Given the description of an element on the screen output the (x, y) to click on. 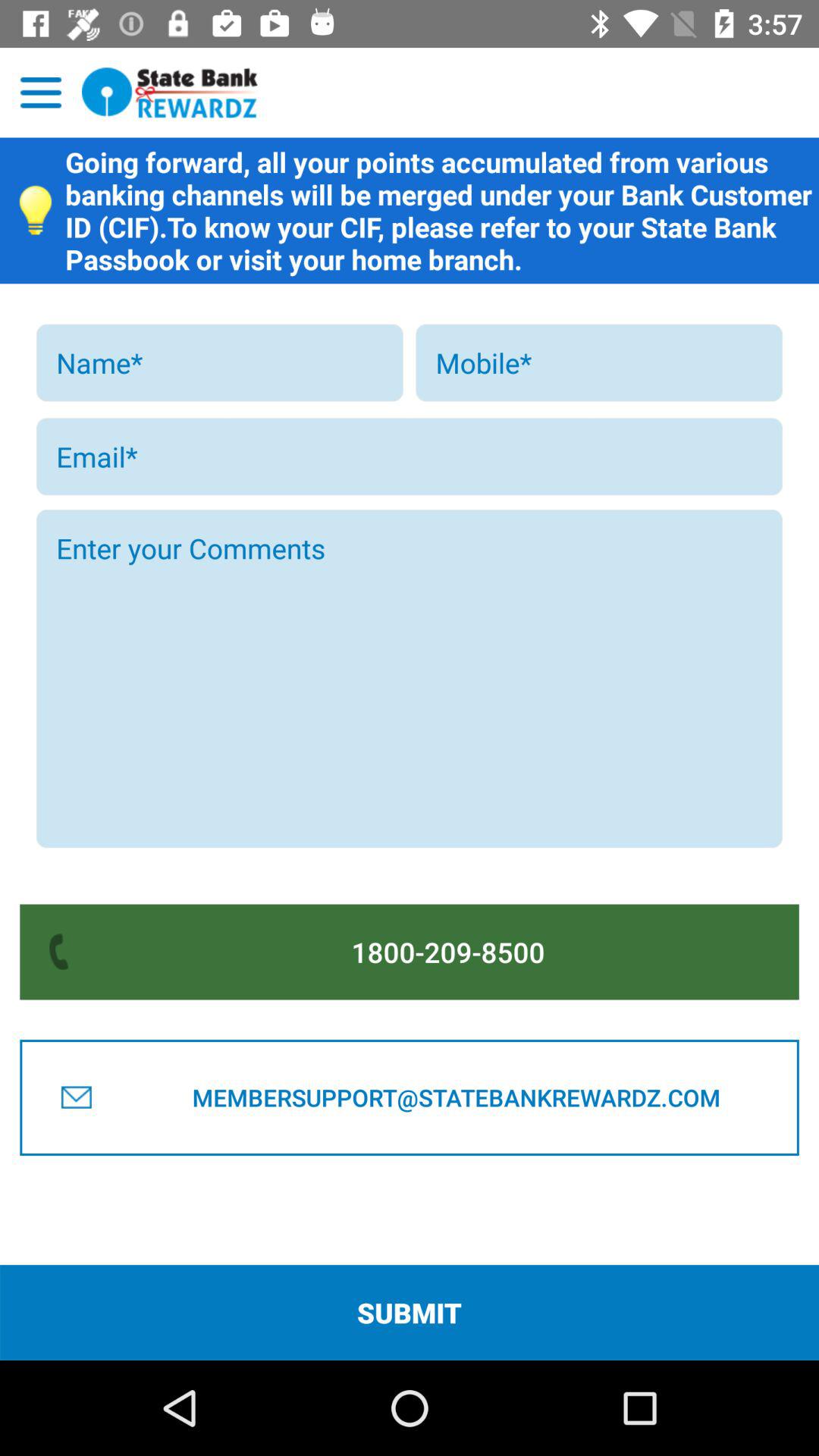
view app locations (40, 92)
